Given the description of an element on the screen output the (x, y) to click on. 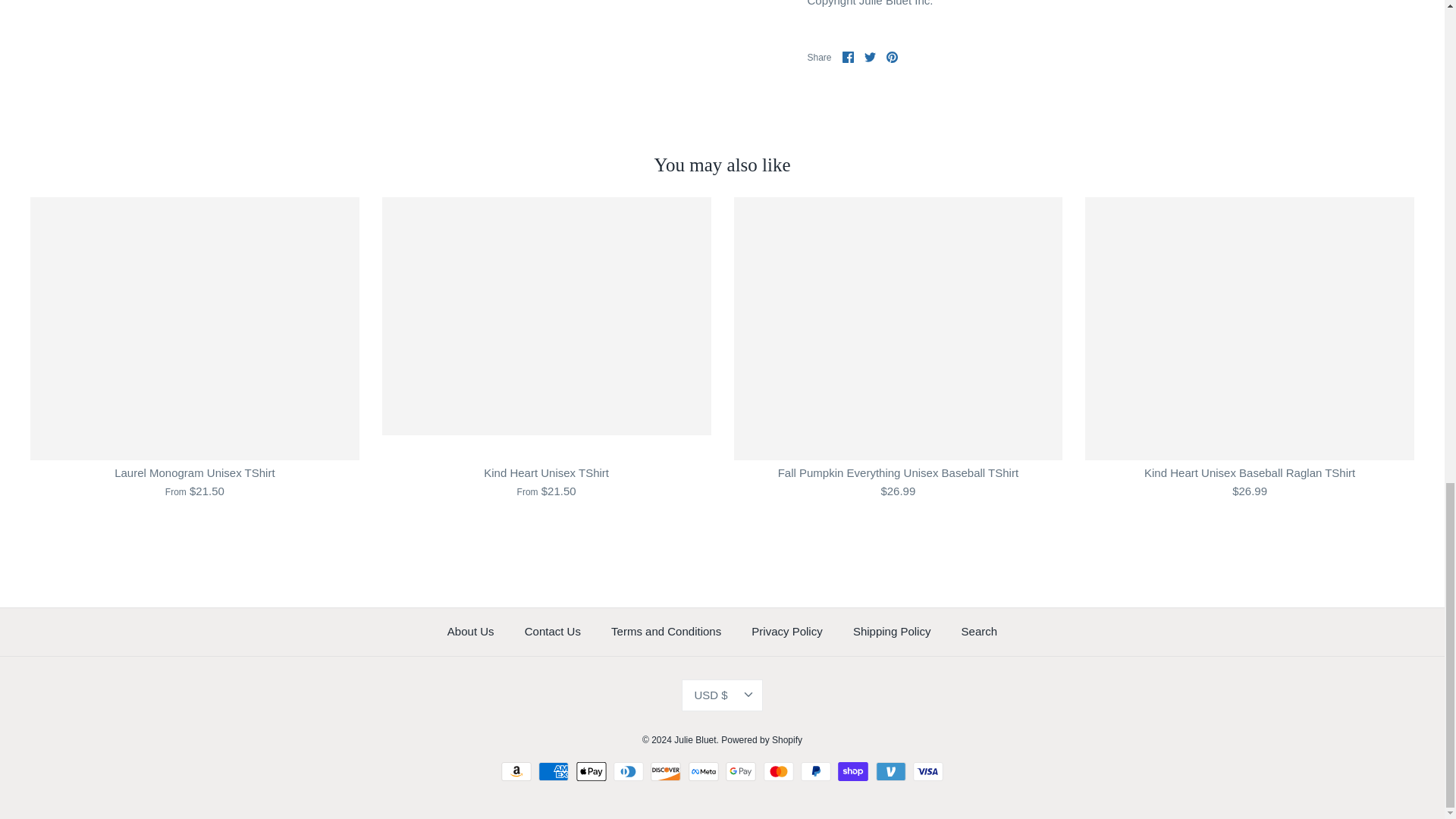
Down (748, 694)
Facebook (848, 57)
Twitter (870, 57)
Pinterest (892, 57)
Amazon (515, 771)
